Given the description of an element on the screen output the (x, y) to click on. 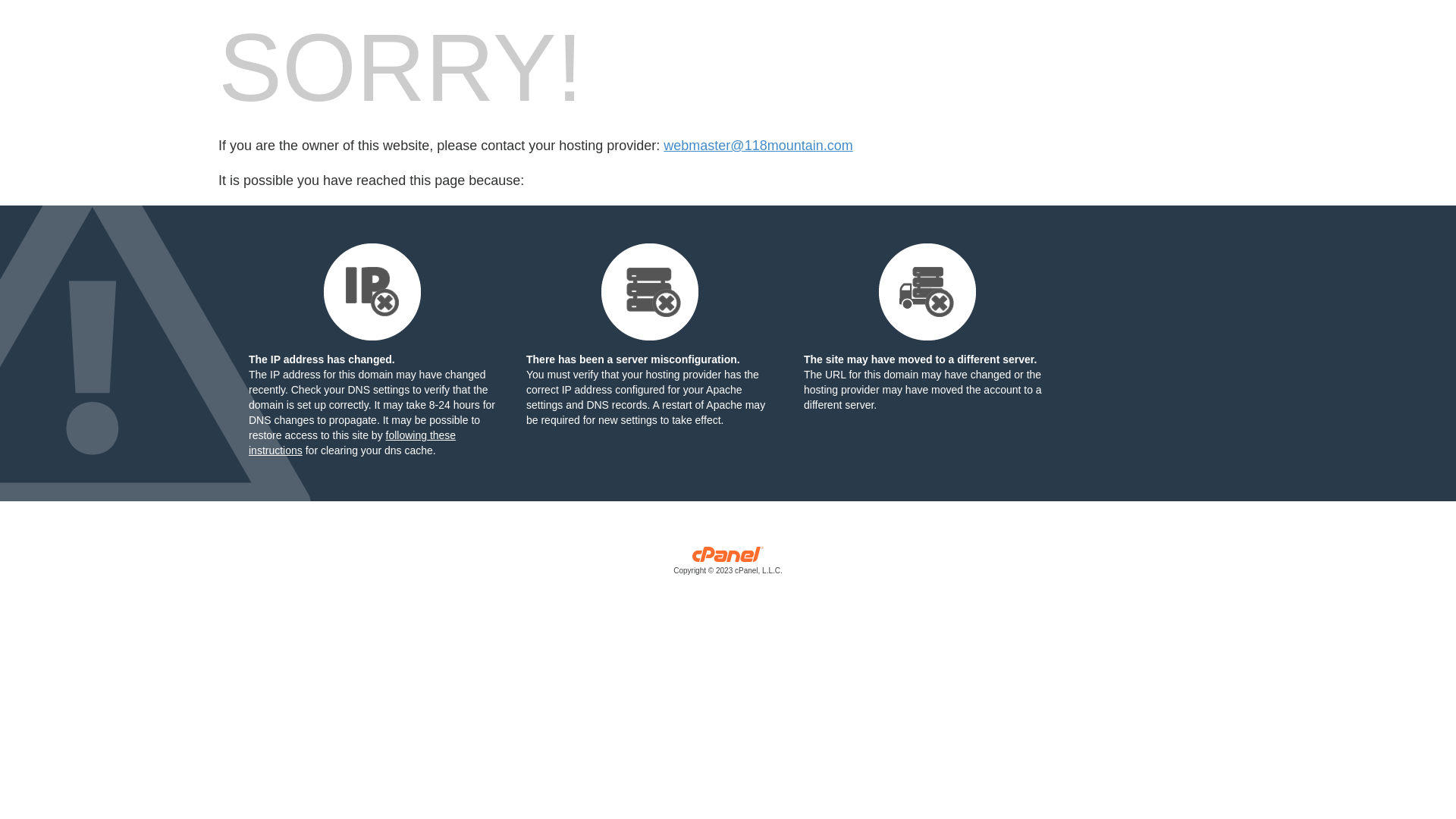
following these instructions Element type: text (351, 442)
webmaster@118mountain.com Element type: text (757, 145)
